Given the description of an element on the screen output the (x, y) to click on. 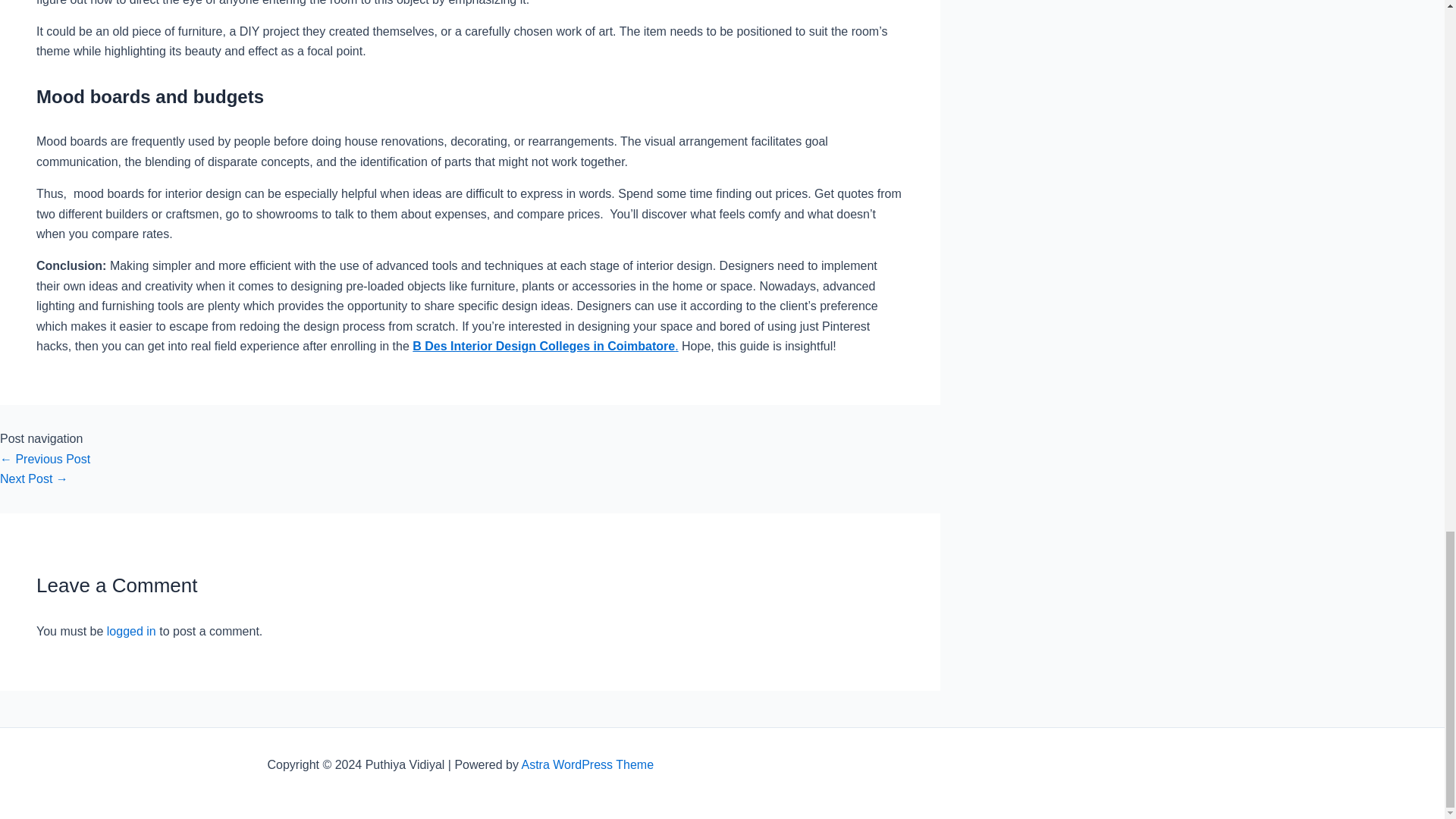
logged in (130, 631)
5 Reasons Why Your Business Needs Social Media Marketing (34, 478)
10 Skills Every SEO Expert Needs to Succeed (45, 459)
Astra WordPress Theme (587, 764)
B Des Interior Design Colleges in Coimbatore. (545, 345)
